Given the description of an element on the screen output the (x, y) to click on. 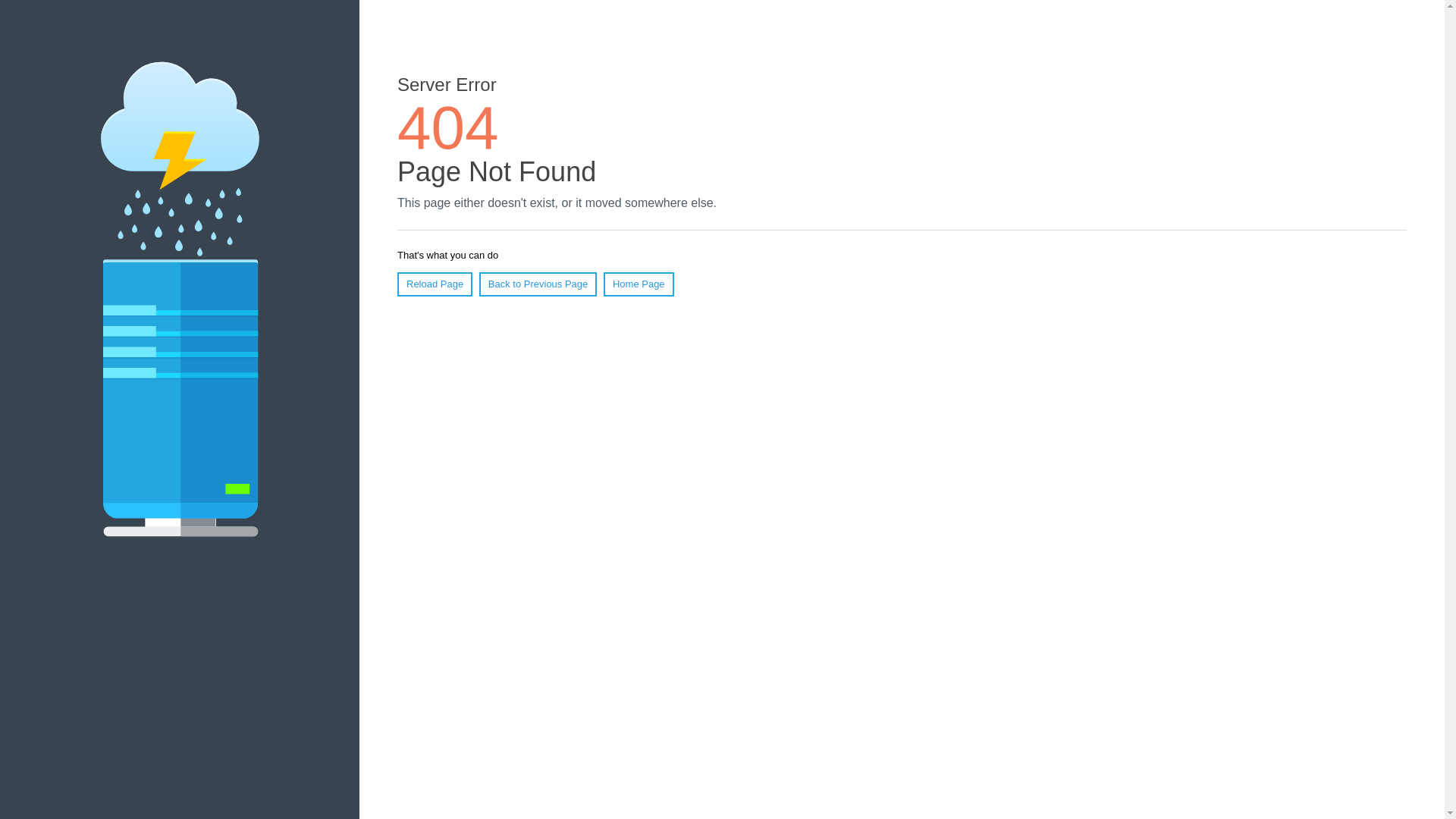
Home Page Element type: text (638, 284)
Back to Previous Page Element type: text (538, 284)
Reload Page Element type: text (434, 284)
